Given the description of an element on the screen output the (x, y) to click on. 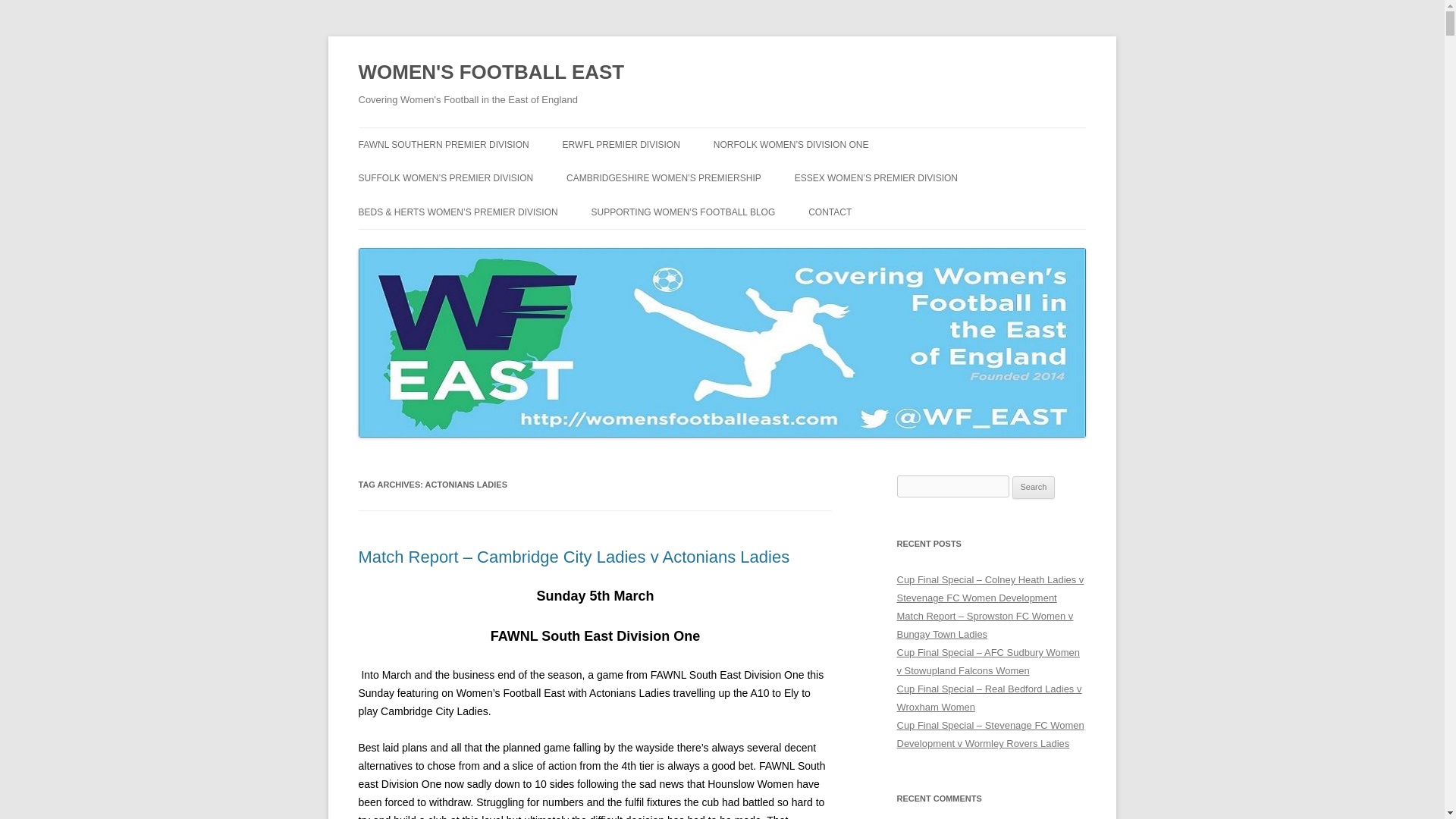
FAWNL SOUTH EAST DIVISION ONE (433, 185)
ERWFL DIVISION ONE NORTH (638, 176)
WOMEN'S FOOTBALL EAST (491, 72)
FAWNL SOUTHERN PREMIER DIVISION (443, 144)
Search (1033, 486)
ERWFL PREMIER DIVISION (620, 144)
